Given the description of an element on the screen output the (x, y) to click on. 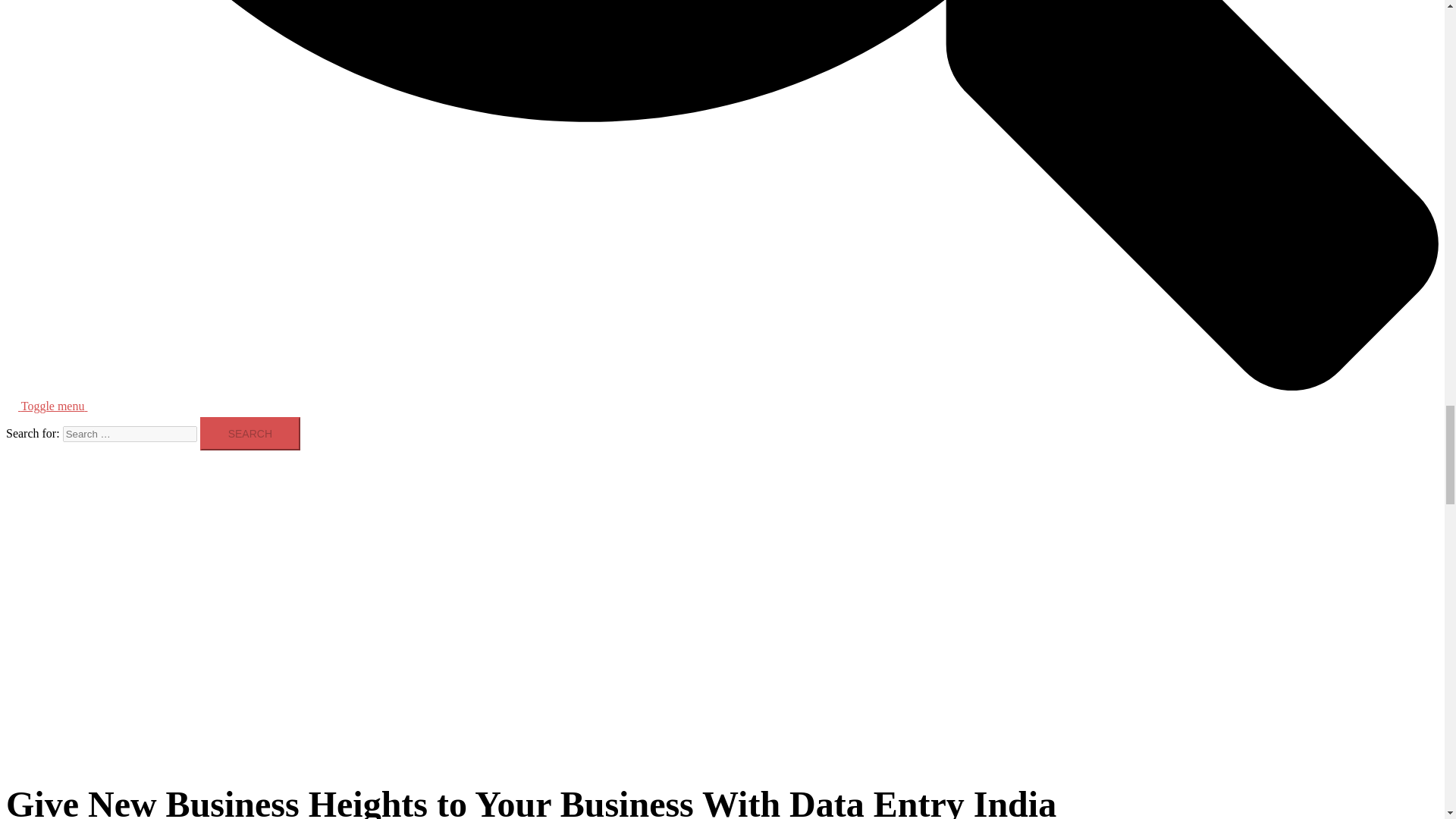
Search (249, 433)
Toggle menu (60, 405)
Search (249, 433)
Search (249, 433)
